Given the description of an element on the screen output the (x, y) to click on. 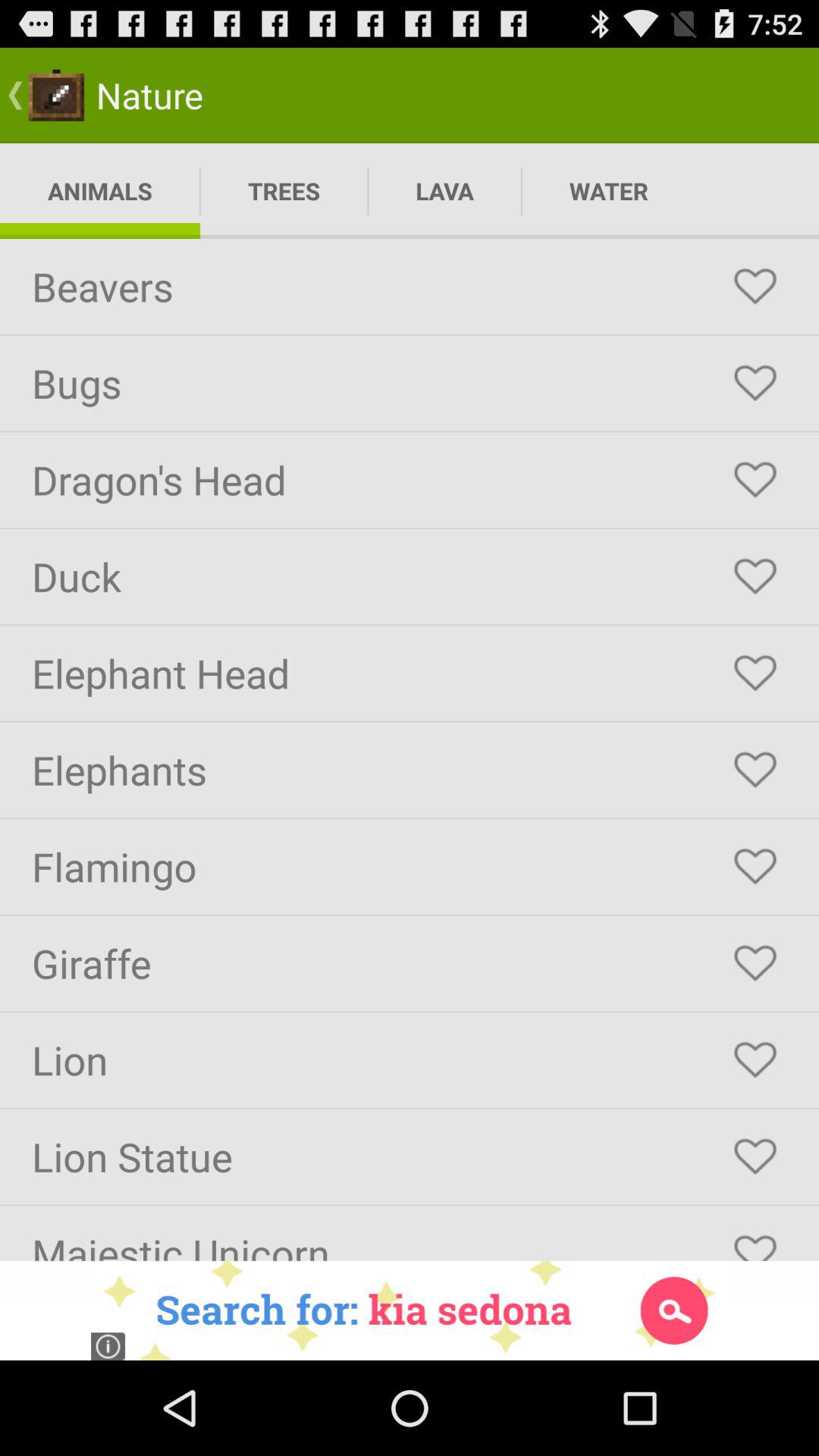
add to favorite (755, 1060)
